Given the description of an element on the screen output the (x, y) to click on. 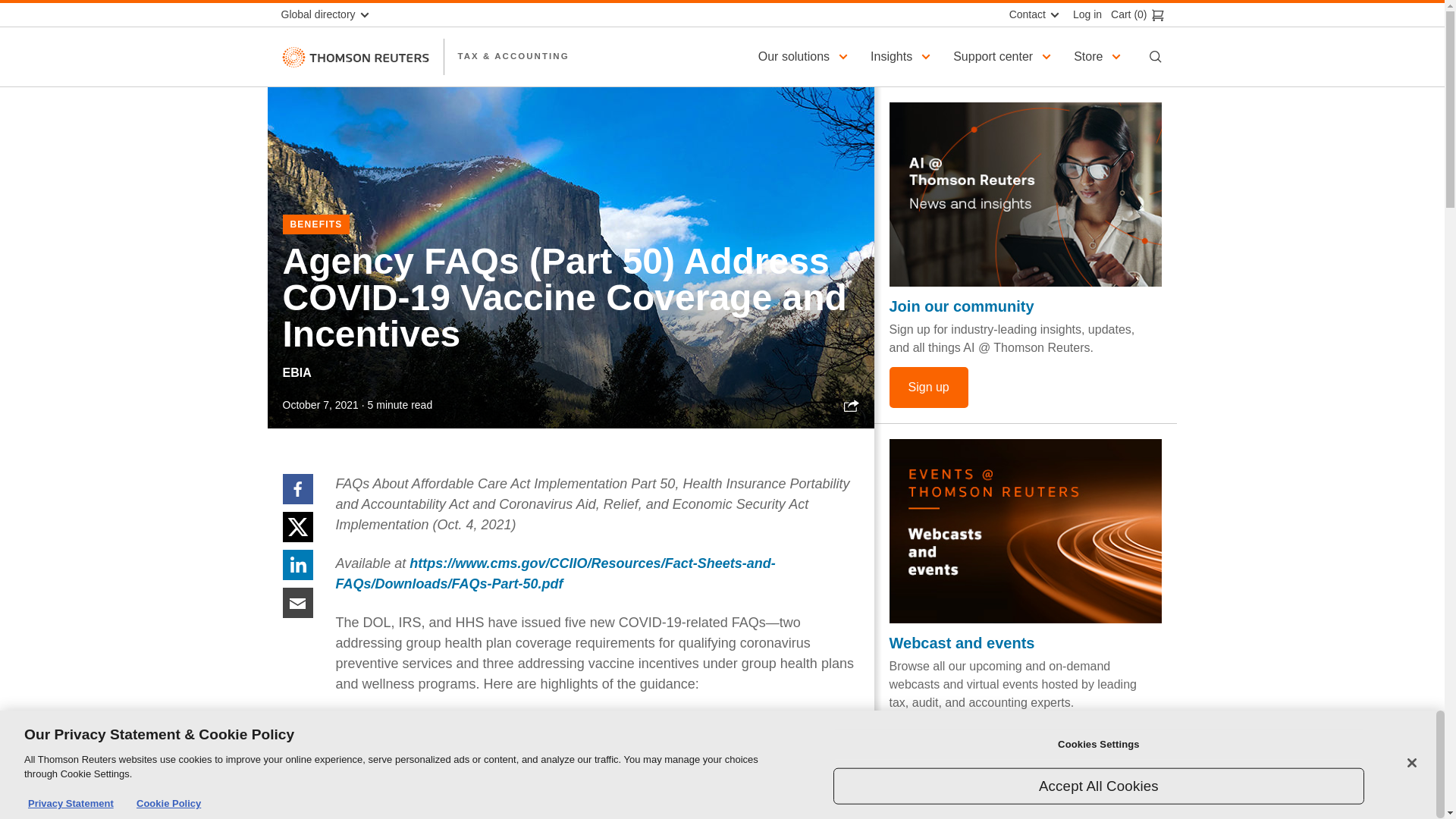
Global directory (331, 14)
Twitter (297, 525)
October 7, 2021 (320, 404)
Facebook (297, 487)
Linkedin (297, 563)
Our solutions (805, 56)
Thomson Reuters (355, 56)
Email (297, 601)
Contact (1032, 14)
Log in (1083, 14)
